Given the description of an element on the screen output the (x, y) to click on. 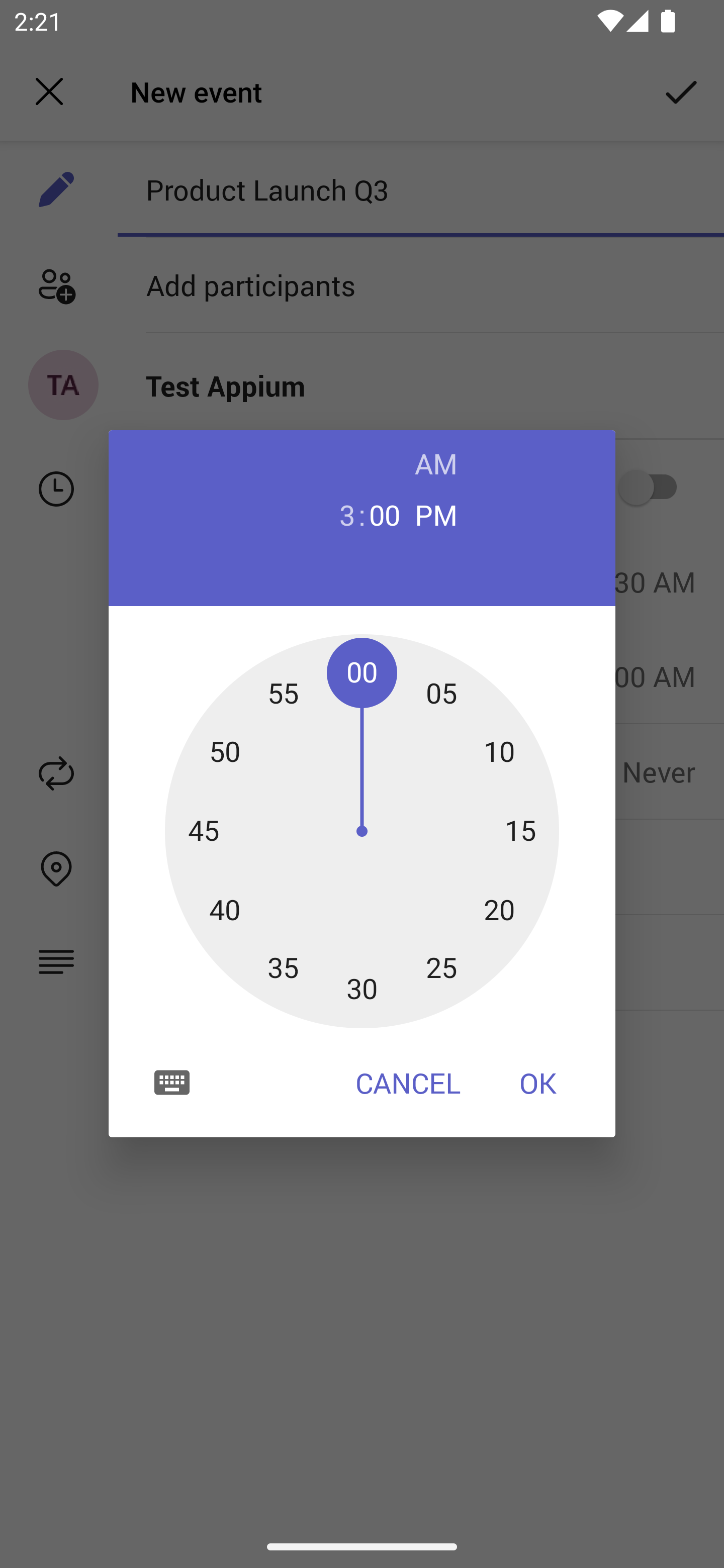
AM (435, 463)
PM (435, 514)
3 (338, 514)
00 (384, 514)
CANCEL (407, 1082)
OK (537, 1082)
Switch to text input mode for the time input. (171, 1081)
